Given the description of an element on the screen output the (x, y) to click on. 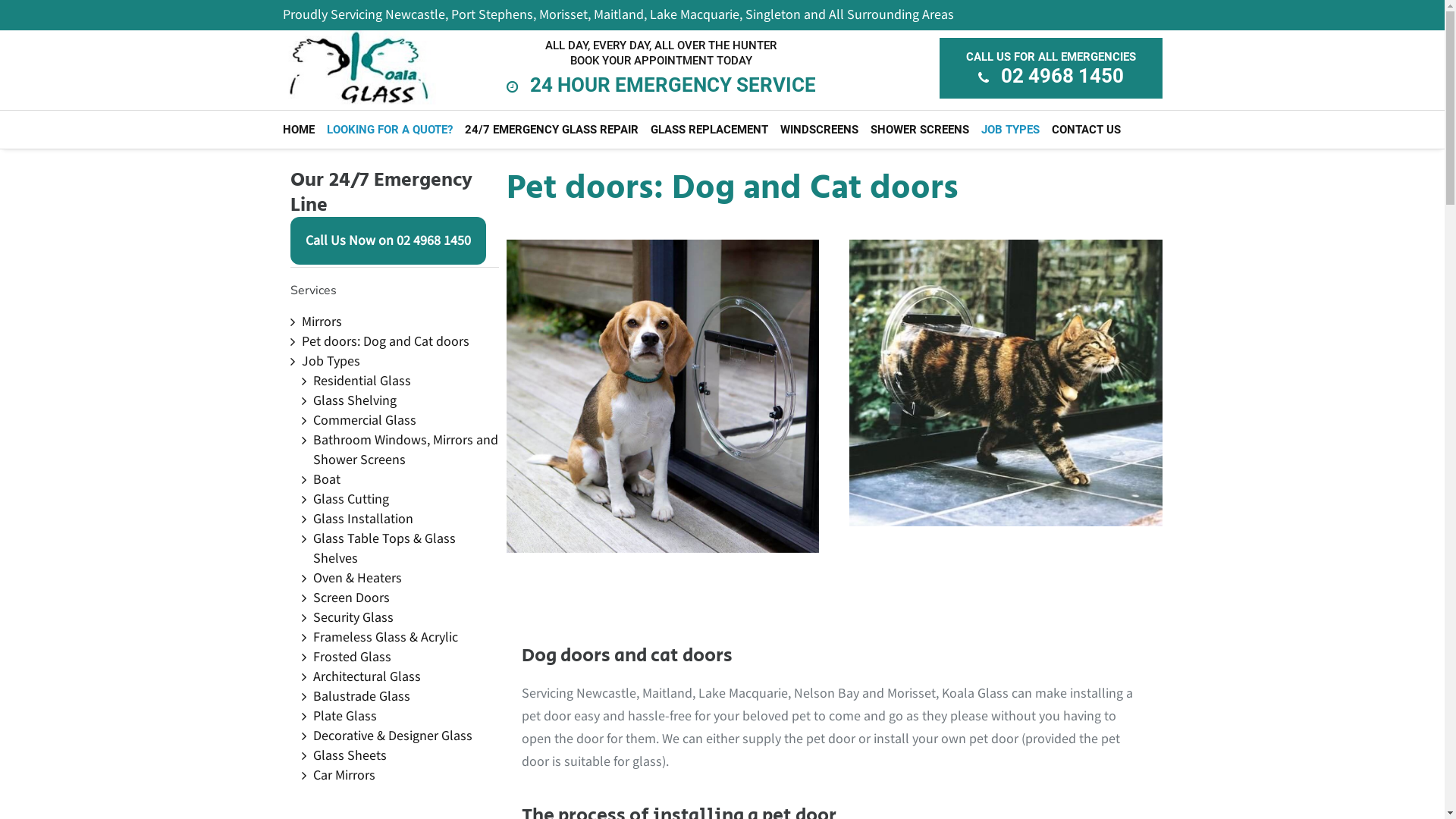
Call Us Now on 02 4968 1450 Element type: text (387, 240)
Mirrors Element type: text (321, 321)
Glass Cutting Element type: text (350, 499)
Frameless Glass & Acrylic Element type: text (384, 637)
Security Glass Element type: text (352, 617)
Oven & Heaters Element type: text (356, 577)
24/7 EMERGENCY GLASS REPAIR Element type: text (550, 129)
JOB TYPES Element type: text (1010, 129)
Commercial Glass Element type: text (363, 420)
SHOWER SCREENS Element type: text (919, 129)
Boat Element type: text (325, 479)
Glass Table Tops & Glass Shelves Element type: text (383, 548)
GLASS REPLACEMENT Element type: text (709, 129)
Decorative & Designer Glass Element type: text (391, 735)
Car Mirrors Element type: text (343, 775)
Plate Glass Element type: text (344, 715)
Balustrade Glass Element type: text (360, 696)
LOOKING FOR A QUOTE? Element type: text (389, 129)
Glass Shelving Element type: text (353, 400)
Residential Glass Element type: text (361, 380)
WINDSCREENS Element type: text (818, 129)
CONTACT US Element type: text (1085, 129)
Screen Doors Element type: text (350, 597)
Job Types Element type: text (330, 361)
Frosted Glass Element type: text (351, 656)
Bathroom Windows, Mirrors and Shower Screens Element type: text (404, 449)
Architectural Glass Element type: text (366, 676)
CALL US FOR ALL EMERGENCIES
02 4968 1450 Element type: text (1049, 67)
HOME Element type: text (301, 129)
Pet doors: Dog and Cat doors Element type: text (385, 341)
Glass Sheets Element type: text (348, 755)
Glass Installation Element type: text (362, 518)
